Given the description of an element on the screen output the (x, y) to click on. 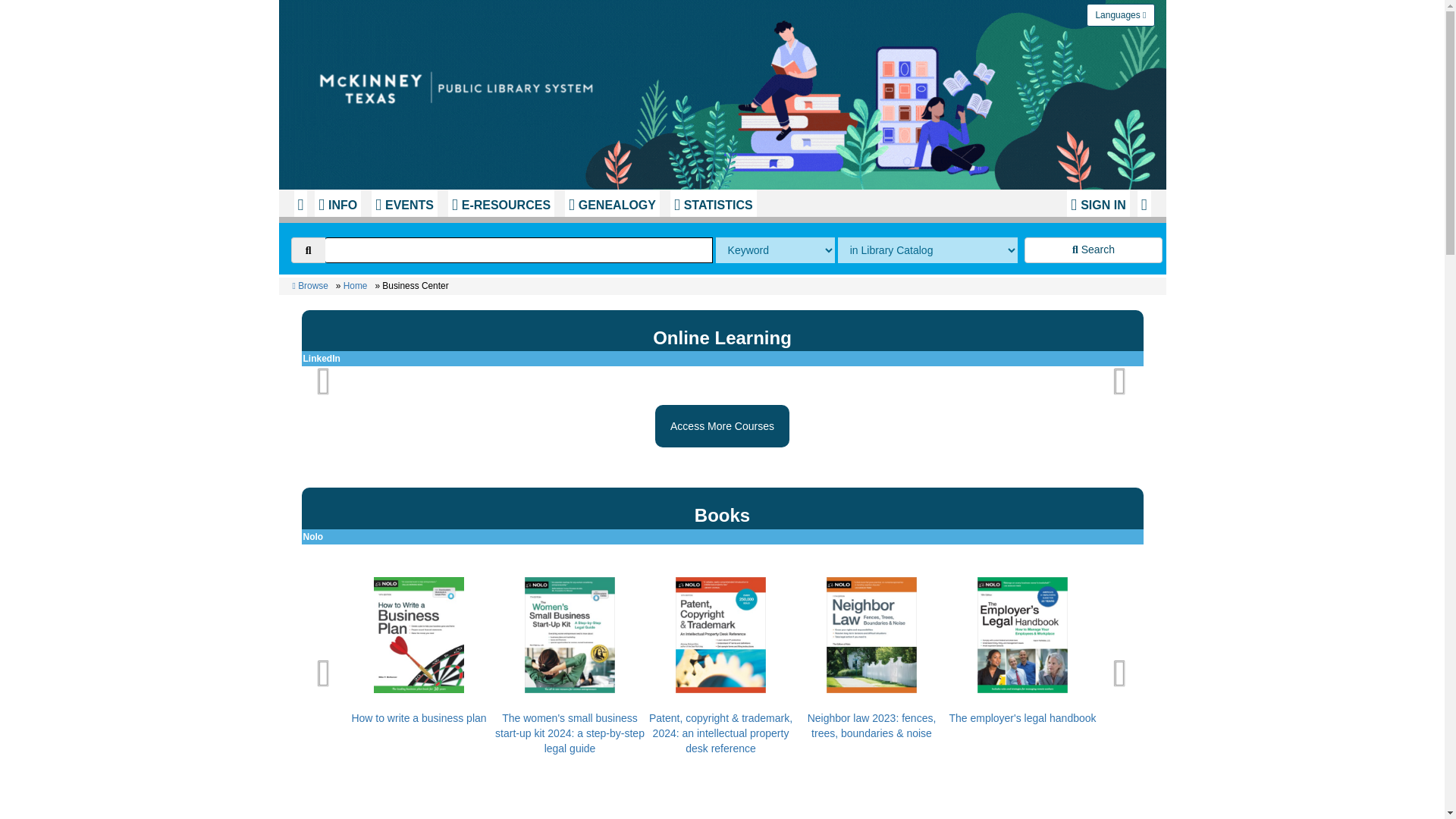
Return to Catalog Home (460, 82)
SIGN IN (1098, 203)
EVENTS (404, 203)
GENEALOGY (611, 203)
INFO (337, 203)
STATISTICS (713, 203)
E-RESOURCES (501, 203)
Languages  (1120, 15)
